Given the description of an element on the screen output the (x, y) to click on. 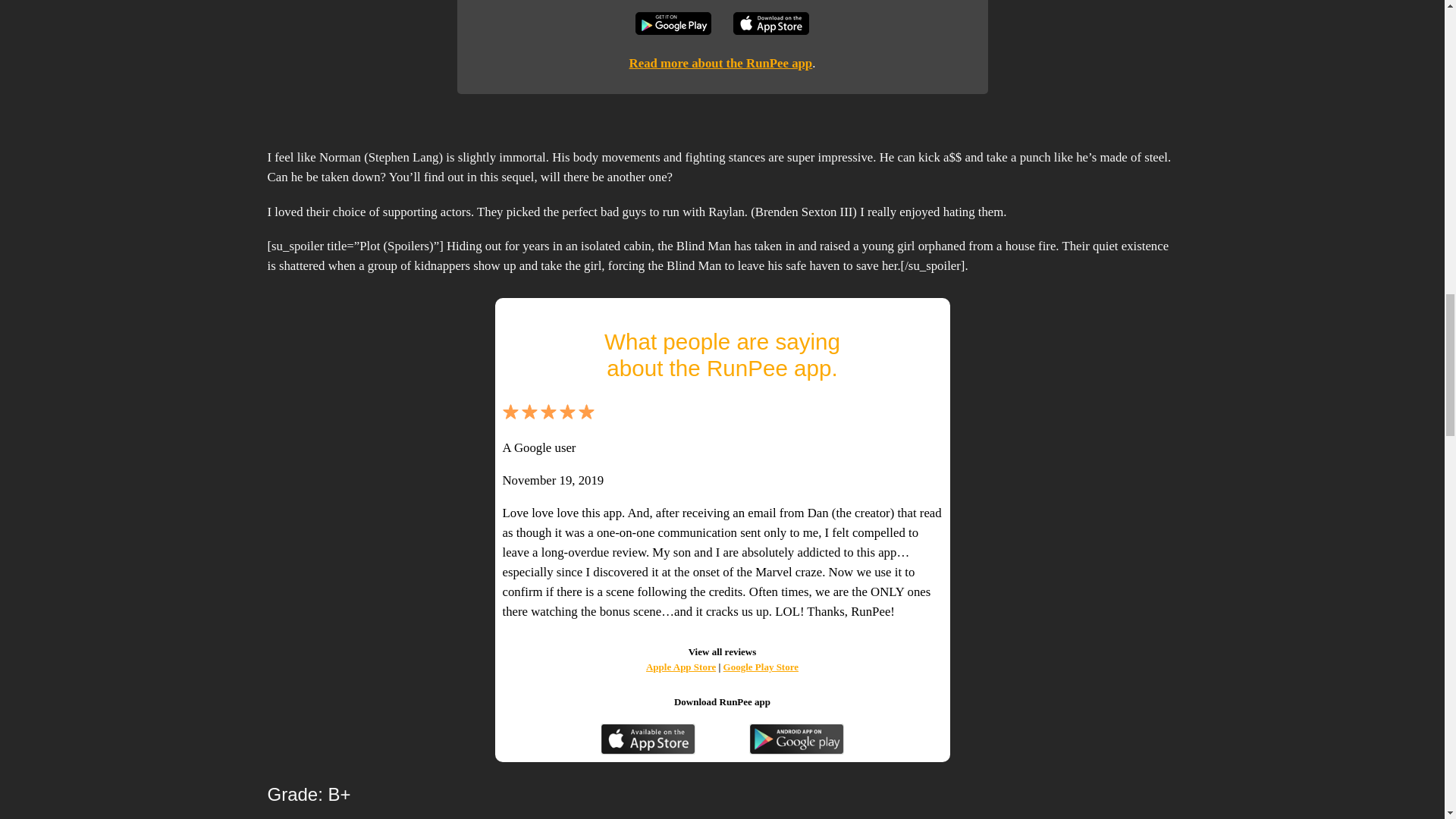
Google Play Store (760, 666)
Apple App Store (681, 666)
Read more about the RunPee app (720, 63)
